Given the description of an element on the screen output the (x, y) to click on. 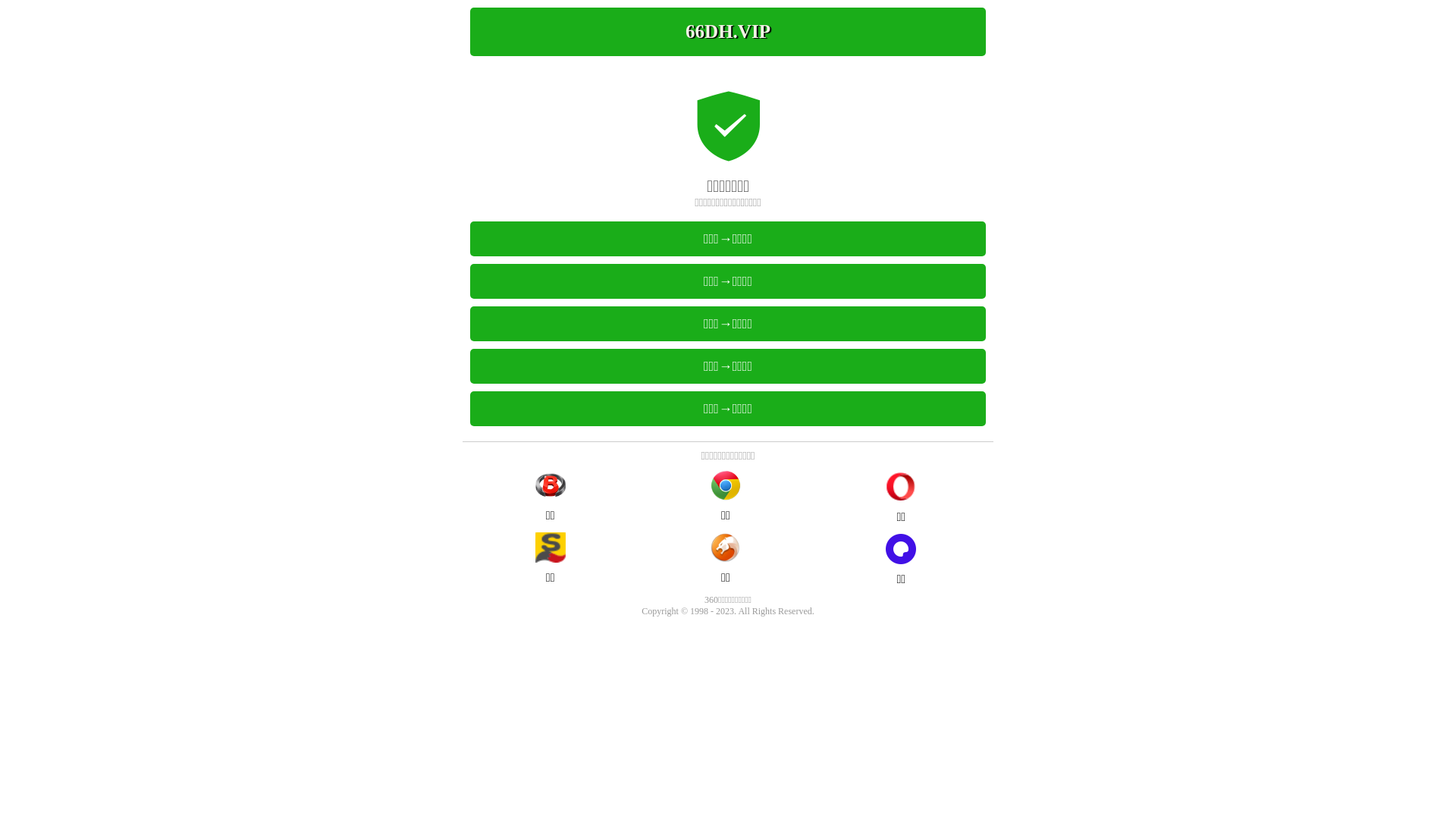
66DH.VIP Element type: text (727, 31)
